Given the description of an element on the screen output the (x, y) to click on. 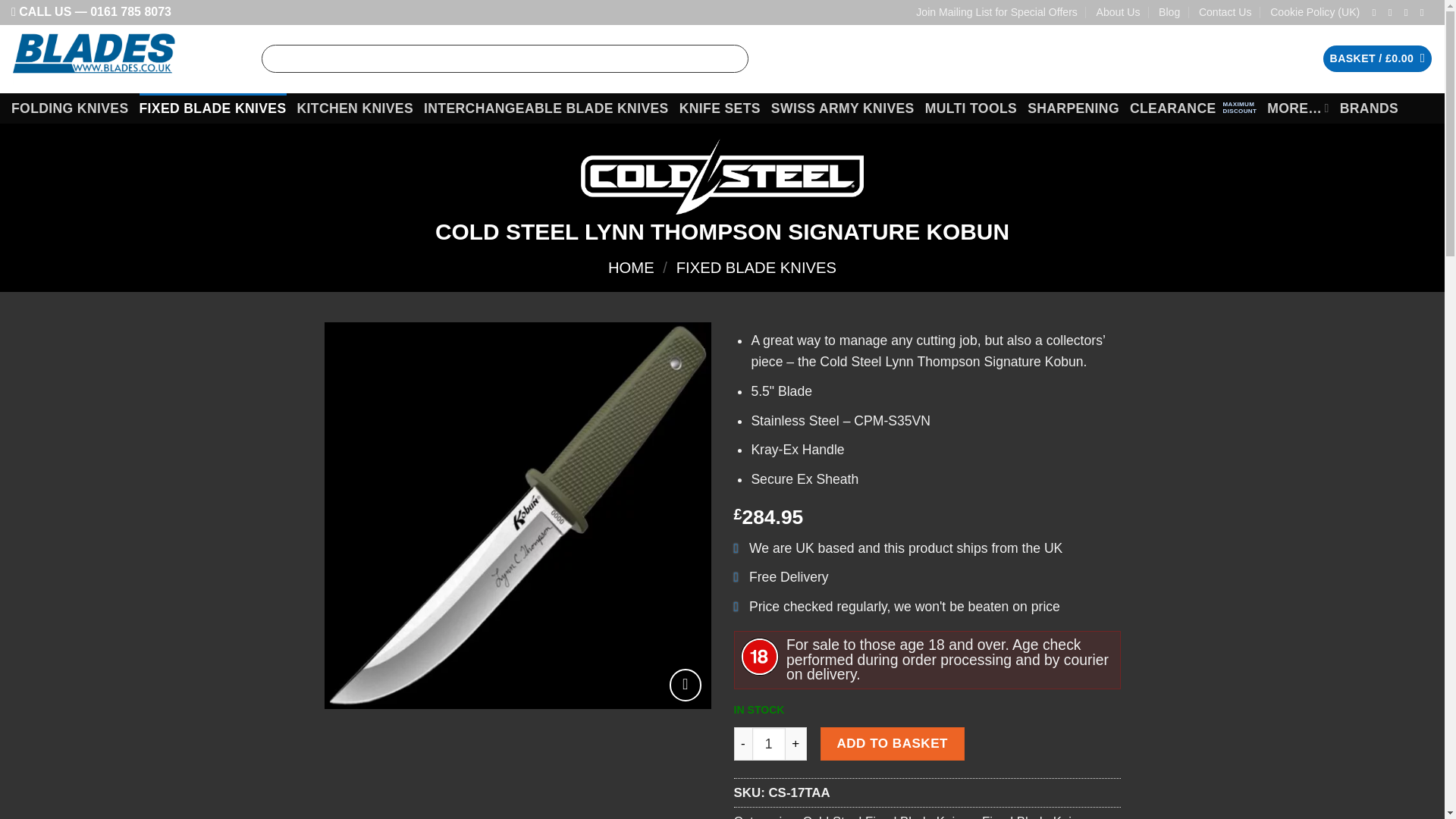
Cold Steel (721, 176)
Blades.co.uk (124, 59)
Basket (1377, 58)
Login (1273, 58)
KITCHEN KNIVES (355, 108)
FOLDING KNIVES (69, 108)
0161 785 8073 (130, 11)
SWISS ARMY KNIVES (842, 108)
INTERCHANGEABLE BLADE KNIVES (545, 108)
CLEARANCE (1192, 108)
MULTI TOOLS (970, 108)
Contact Us (1225, 12)
SHARPENING (1073, 108)
LOGIN (1273, 58)
FIXED BLADE KNIVES (211, 108)
